Given the description of an element on the screen output the (x, y) to click on. 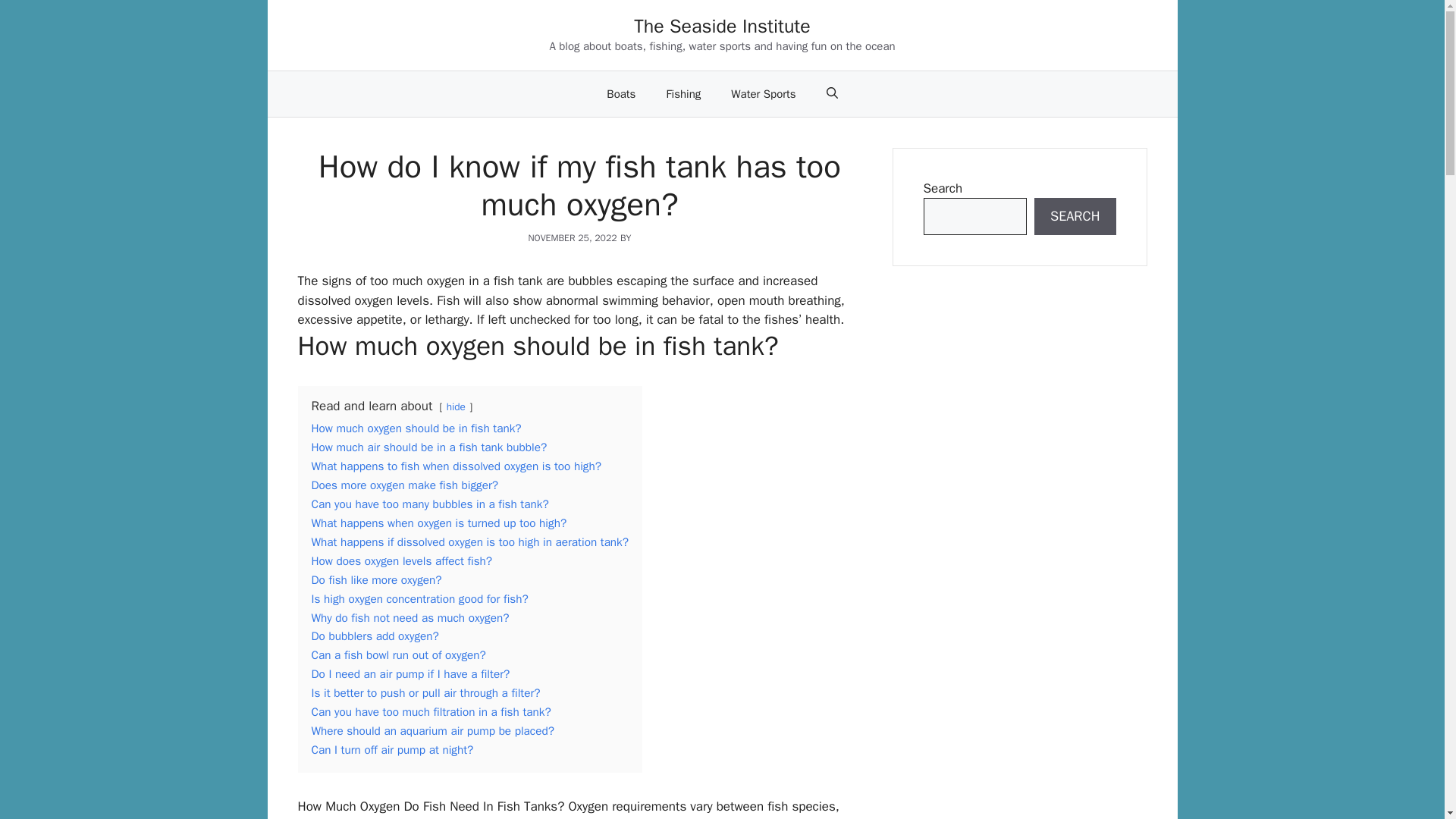
Do fish like more oxygen? (376, 580)
Does more oxygen make fish bigger? (404, 485)
hide (455, 406)
How much oxygen should be in fish tank? (416, 427)
Can you have too many bubbles in a fish tank? (429, 503)
How does oxygen levels affect fish? (401, 560)
What happens to fish when dissolved oxygen is too high? (455, 466)
Can you have too much filtration in a fish tank? (430, 711)
Boats (620, 94)
Where should an aquarium air pump be placed? (432, 730)
Is it better to push or pull air through a filter? (425, 693)
Is high oxygen concentration good for fish? (419, 598)
How much air should be in a fish tank bubble? (429, 447)
Do bubblers add oxygen? (374, 635)
